Given the description of an element on the screen output the (x, y) to click on. 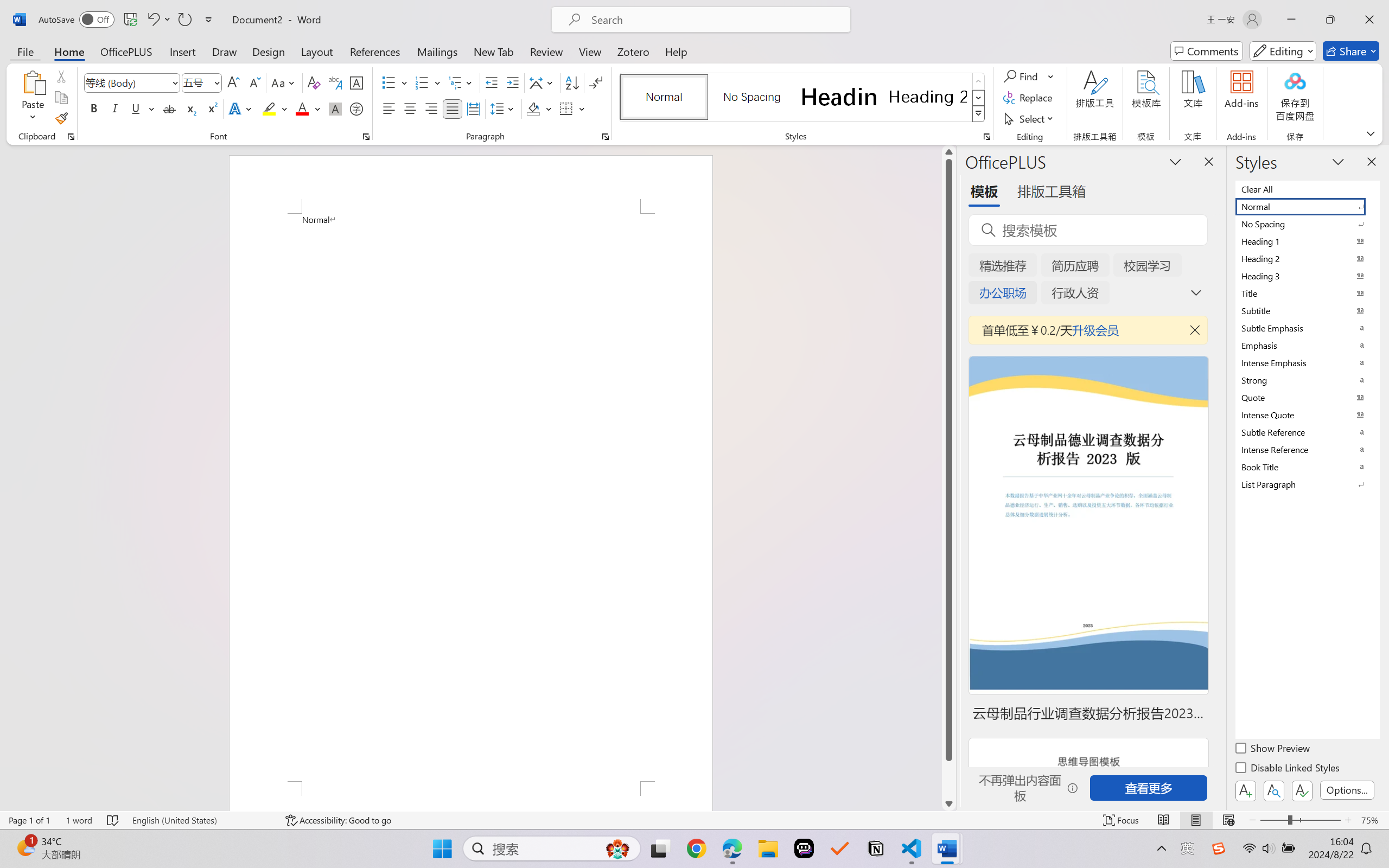
Line up (948, 151)
Clear All (1306, 188)
Zoom Out (1273, 819)
Microsoft search (715, 19)
Increase Indent (512, 82)
Line and Paragraph Spacing (503, 108)
Accessibility Checker Accessibility: Good to go (338, 819)
Customize Quick Access Toolbar (208, 19)
Design (268, 51)
Borders (571, 108)
Copy (60, 97)
Paste (33, 97)
